Given the description of an element on the screen output the (x, y) to click on. 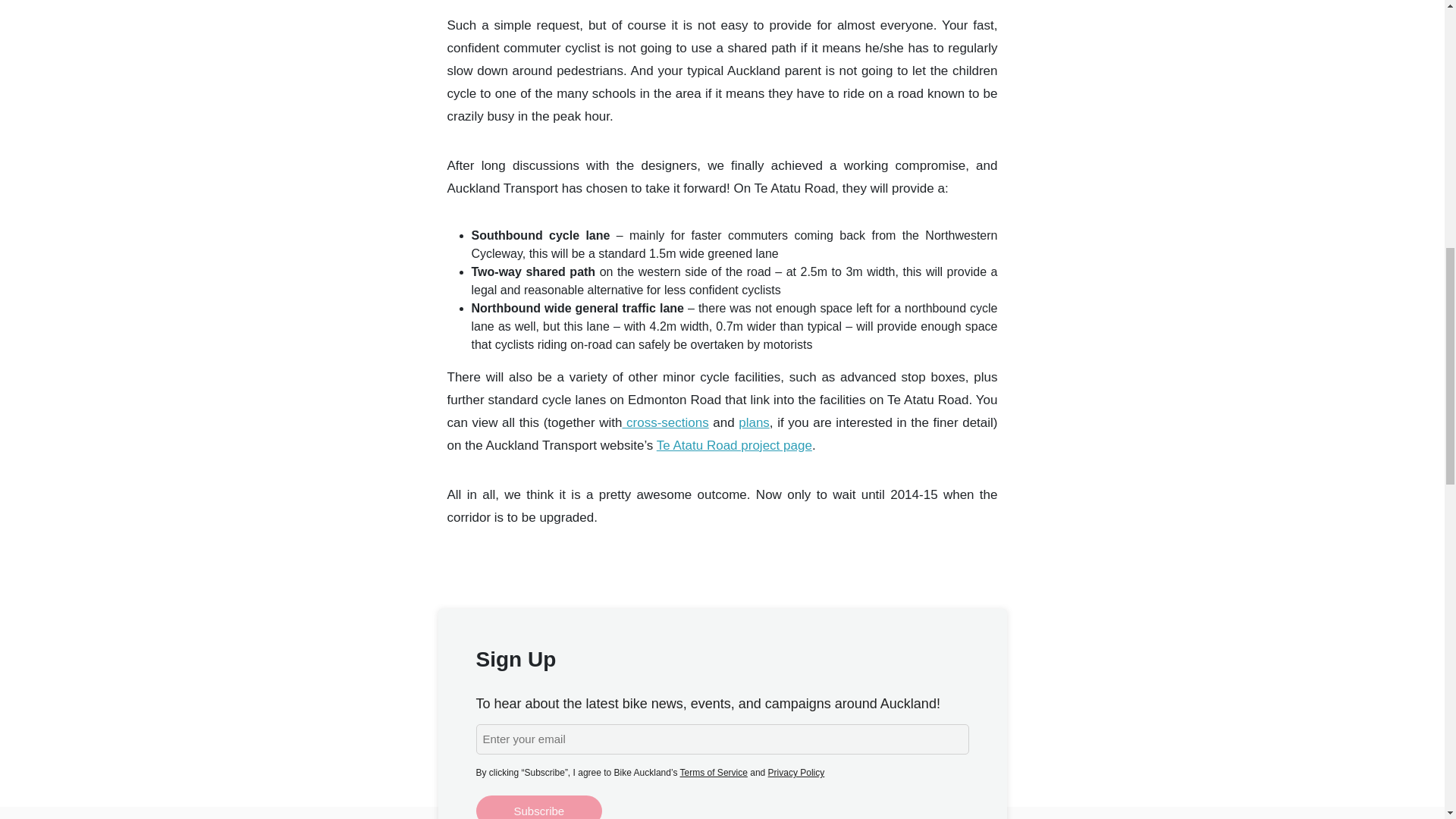
Terms of Service (713, 772)
Subscribe (539, 807)
Privacy Policy (796, 772)
